Given the description of an element on the screen output the (x, y) to click on. 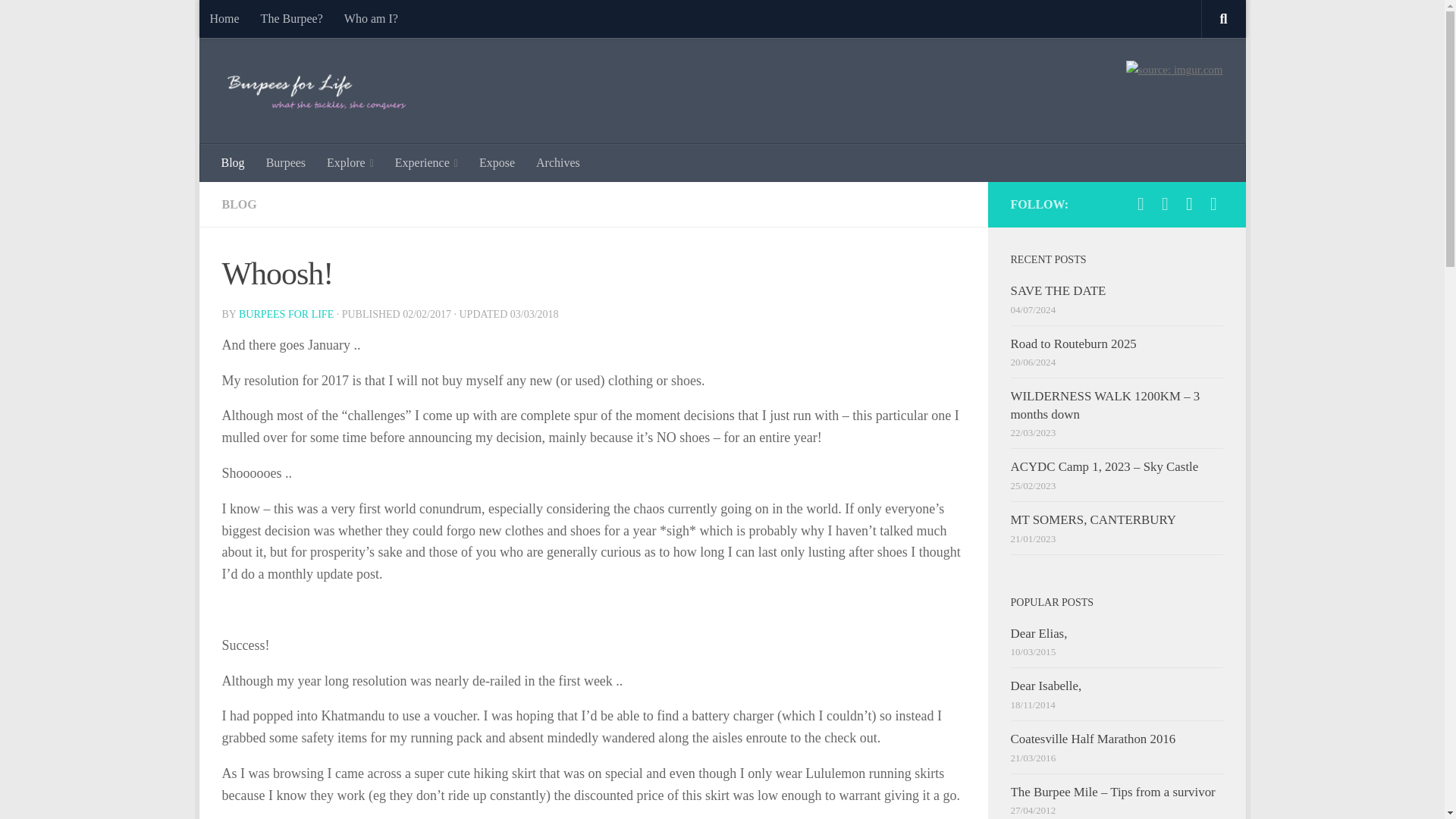
Experience (426, 162)
The Burpee? (291, 18)
Explore (349, 162)
Posts by Burpees For Life (285, 314)
source: imgur.com (1174, 69)
Expose (496, 162)
Blog (233, 162)
BURPEES FOR LIFE (285, 314)
Burpees (285, 162)
Home (223, 18)
Skip to content (258, 20)
BLOG (238, 204)
Archives (558, 162)
Who am I? (371, 18)
